Given the description of an element on the screen output the (x, y) to click on. 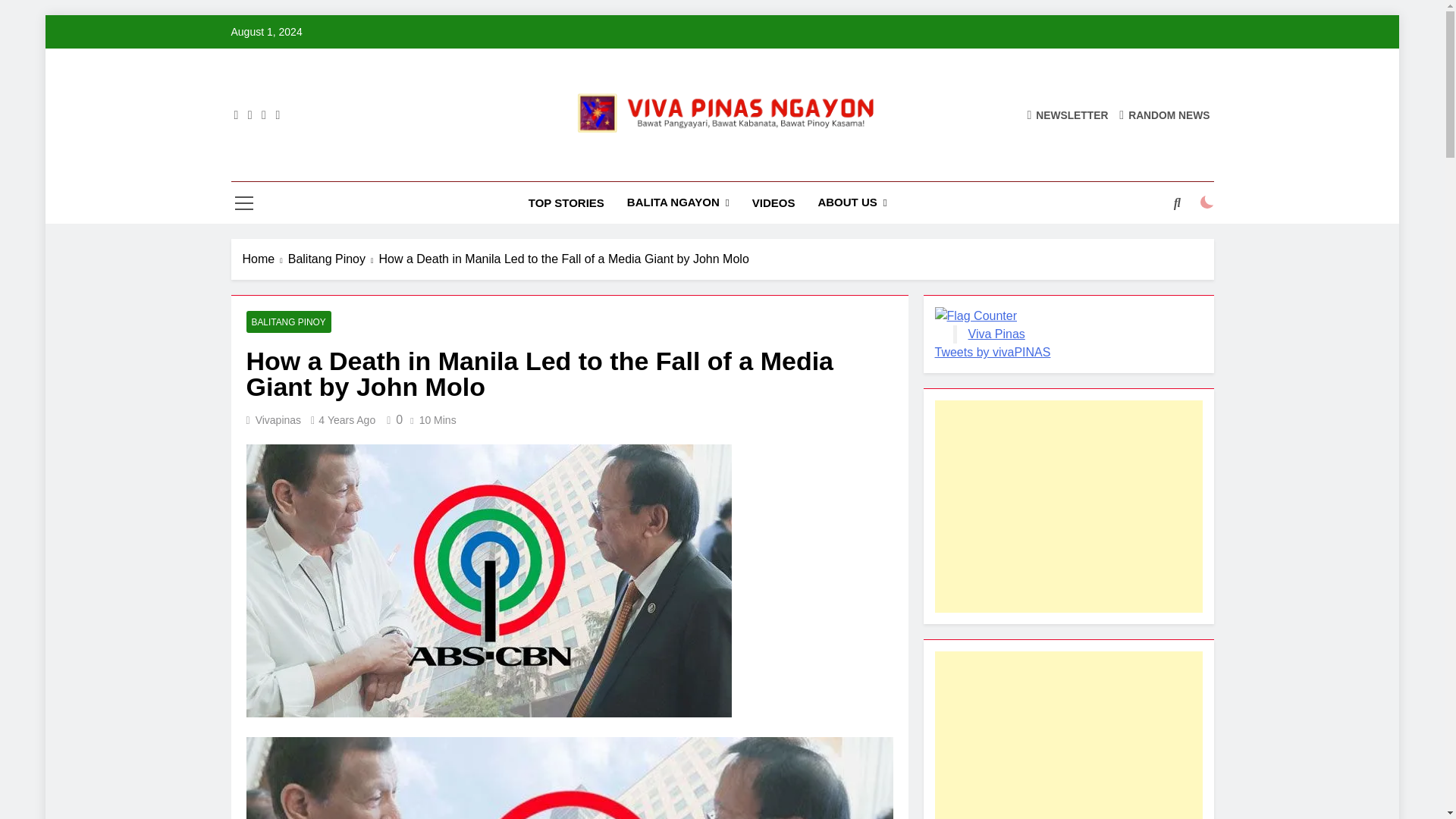
Viva Pinas (558, 167)
RANDOM NEWS (1164, 114)
NEWSLETTER (1067, 114)
ABOUT US (852, 202)
TOP STORIES (565, 202)
Balitang Pinoy (333, 259)
on (1206, 202)
BALITA NGAYON (678, 202)
Home (265, 259)
VIDEOS (773, 202)
